Given the description of an element on the screen output the (x, y) to click on. 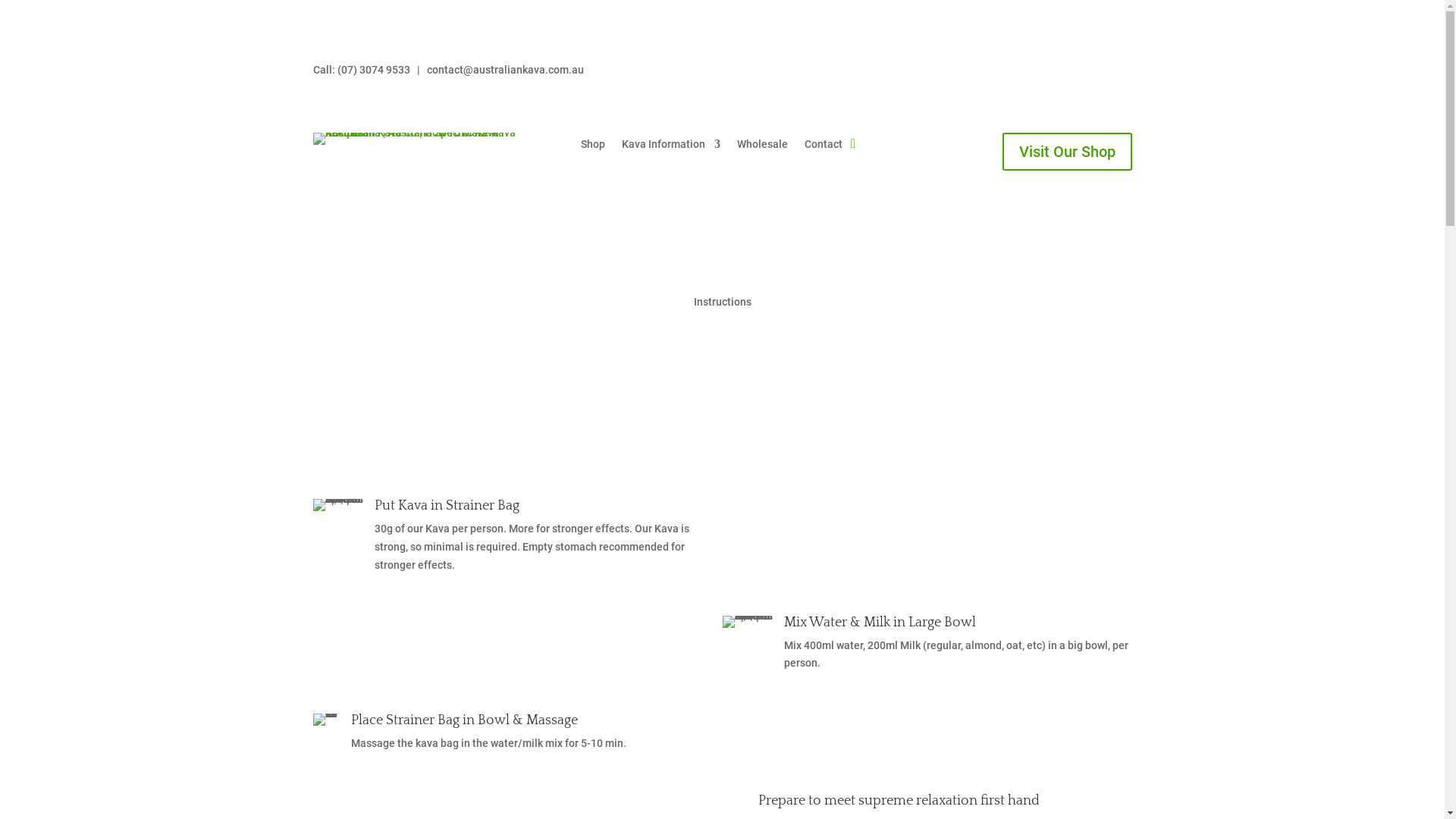
Cosy Kava Feeling Element type: hover (733, 805)
Follow on Facebook Element type: hover (1088, 73)
how to make kava Element type: hover (746, 621)
Making Kava Element type: hover (325, 719)
Follow on Instagram Element type: hover (1119, 73)
Visit Our Shop Element type: text (1067, 151)
Shop Element type: text (592, 146)
Kava Information Element type: text (670, 146)
Kava Specific Strainer Bag Element type: hover (337, 504)
Wholesale Element type: text (762, 146)
Australian Kava Logo Element type: hover (414, 138)
Contact Element type: text (823, 146)
